Given the description of an element on the screen output the (x, y) to click on. 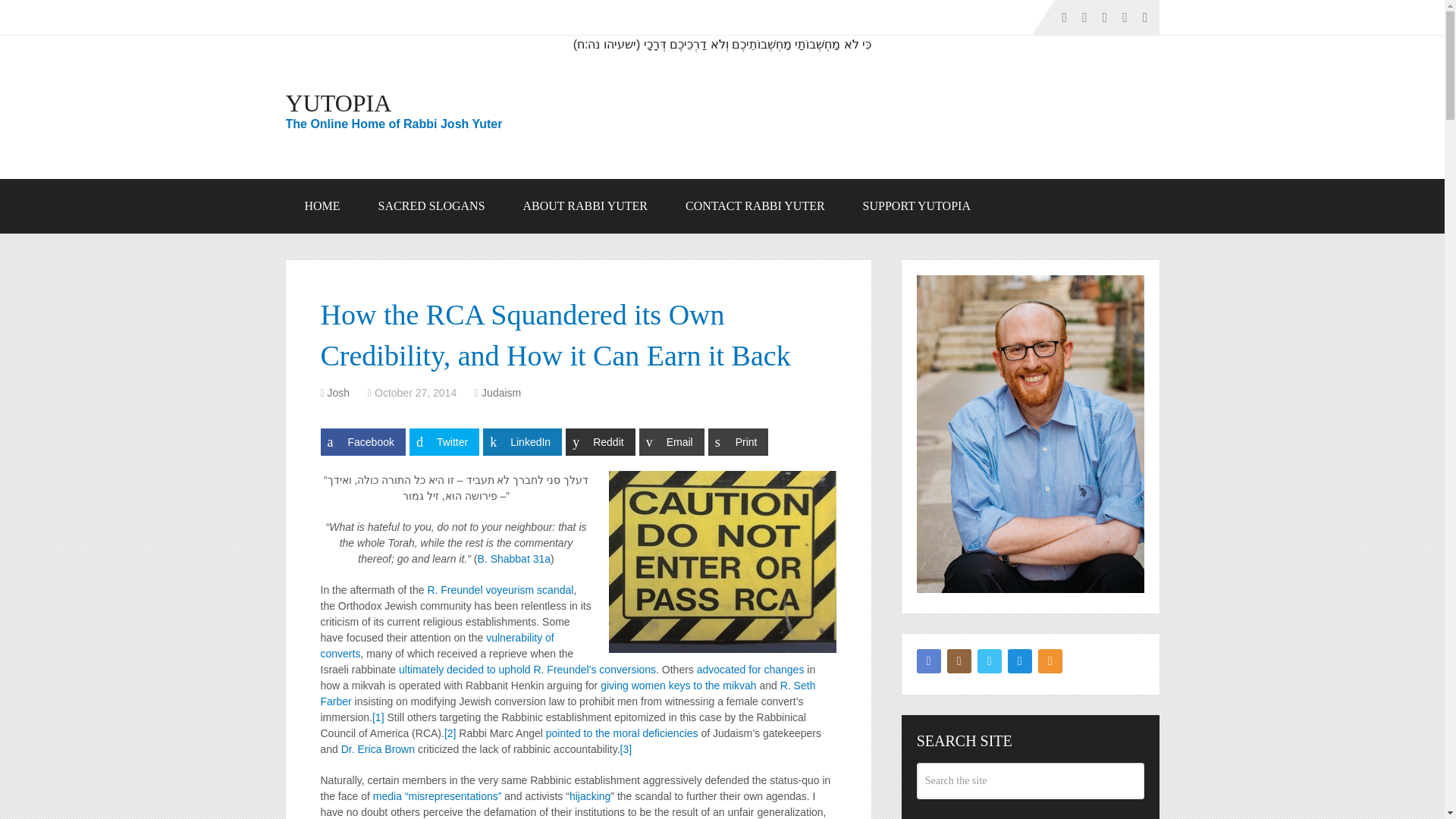
Print (737, 441)
advocated for changes (751, 669)
R. Freundel voyeurism scandal (499, 589)
SACRED SLOGANS (431, 206)
Email (671, 441)
giving women keys to the mikvah (677, 685)
HOME (321, 206)
vulnerability of converts (436, 645)
Share on Email (671, 441)
3 (625, 748)
2 (450, 733)
Posts by Josh (338, 392)
Share on Facebook (362, 441)
Share on LinkedIn (522, 441)
